Given the description of an element on the screen output the (x, y) to click on. 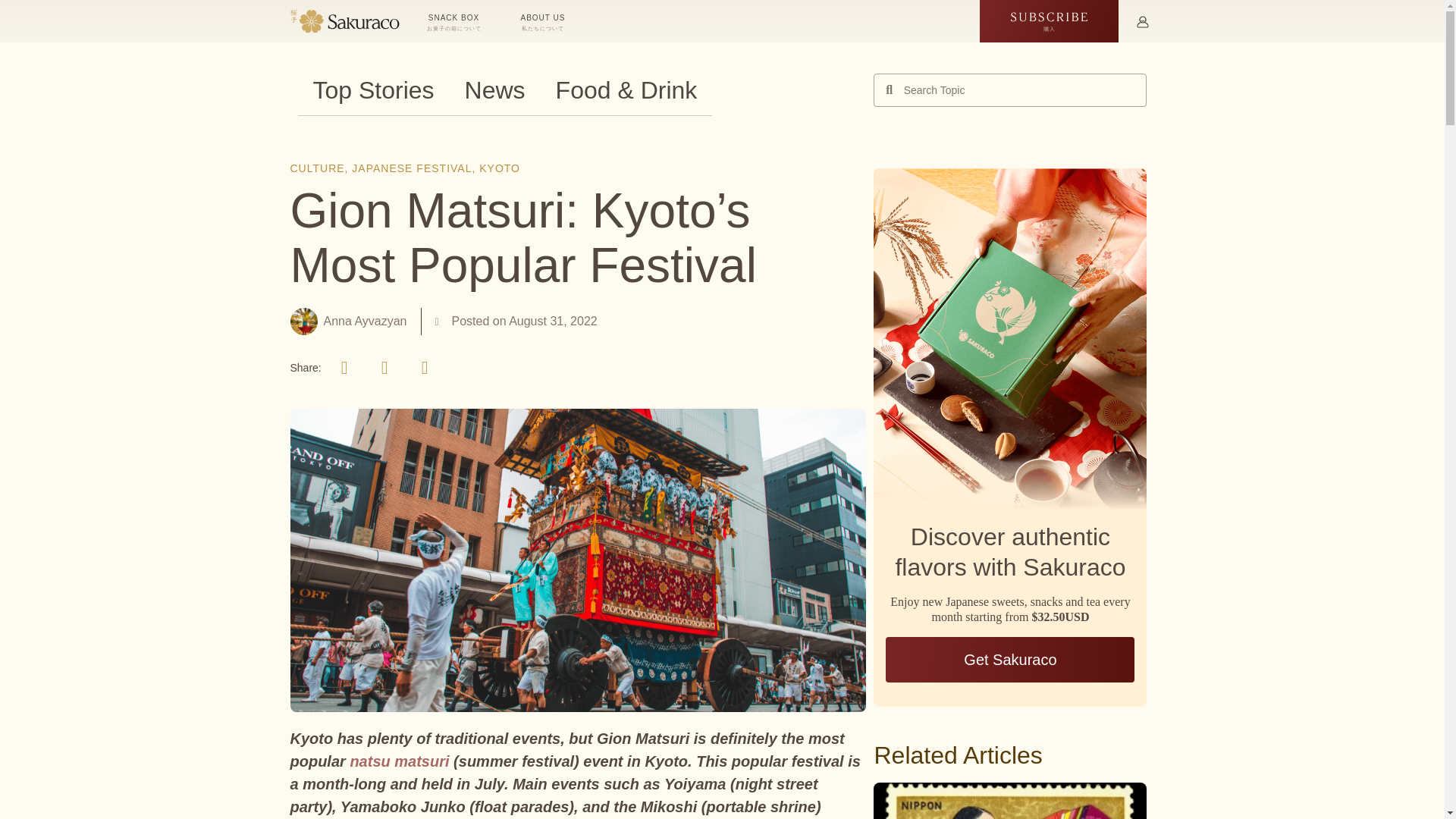
News (494, 90)
SNACK BOX (454, 20)
Top Stories (372, 90)
ABOUT US (544, 20)
Search (1018, 90)
